Given the description of an element on the screen output the (x, y) to click on. 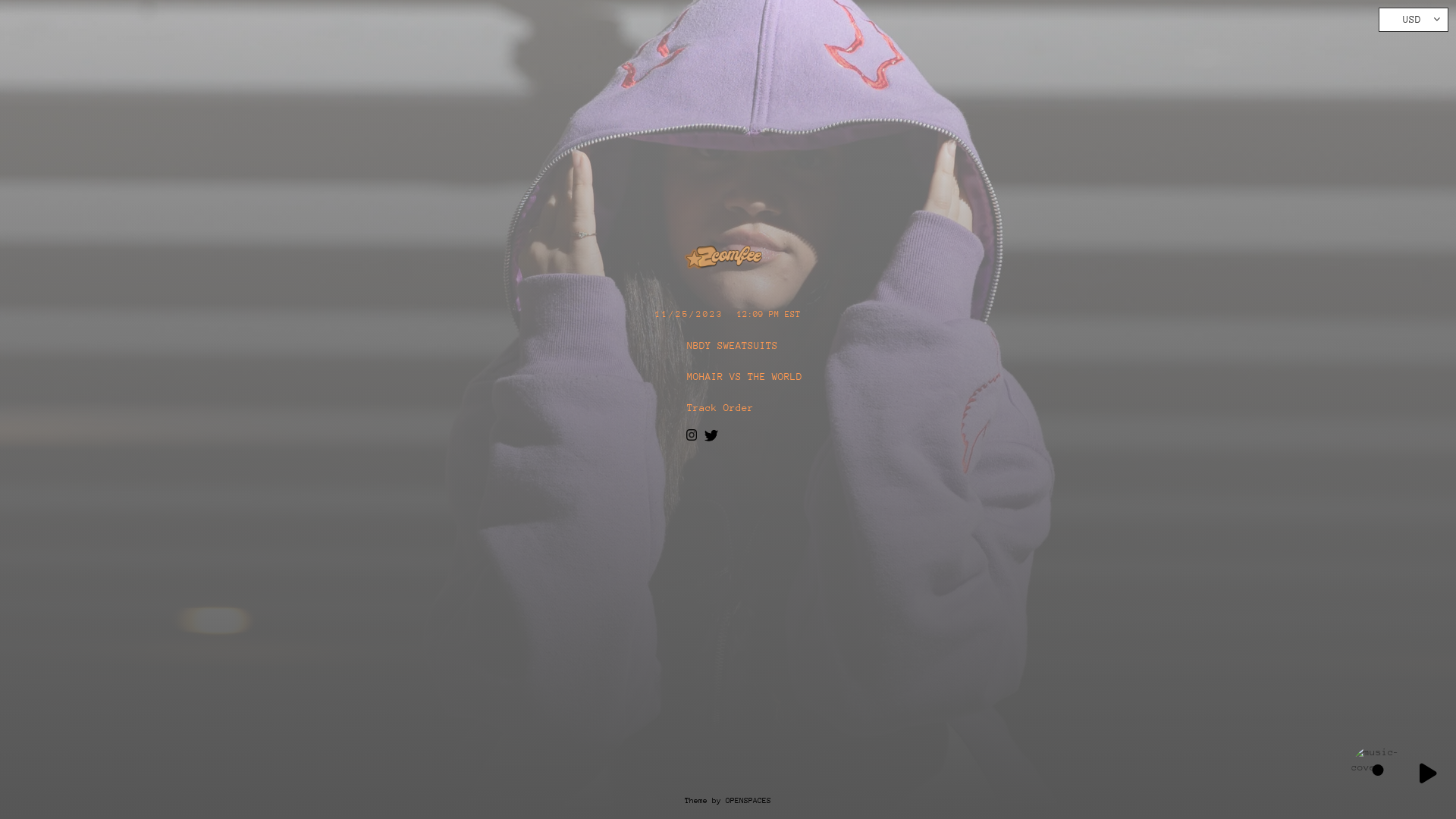
USD Element type: text (1413, 19)
NBDY SWEATSUITS Element type: text (727, 345)
MOHAIR VS THE WORLD Element type: text (727, 376)
Track Order Element type: text (727, 407)
